Given the description of an element on the screen output the (x, y) to click on. 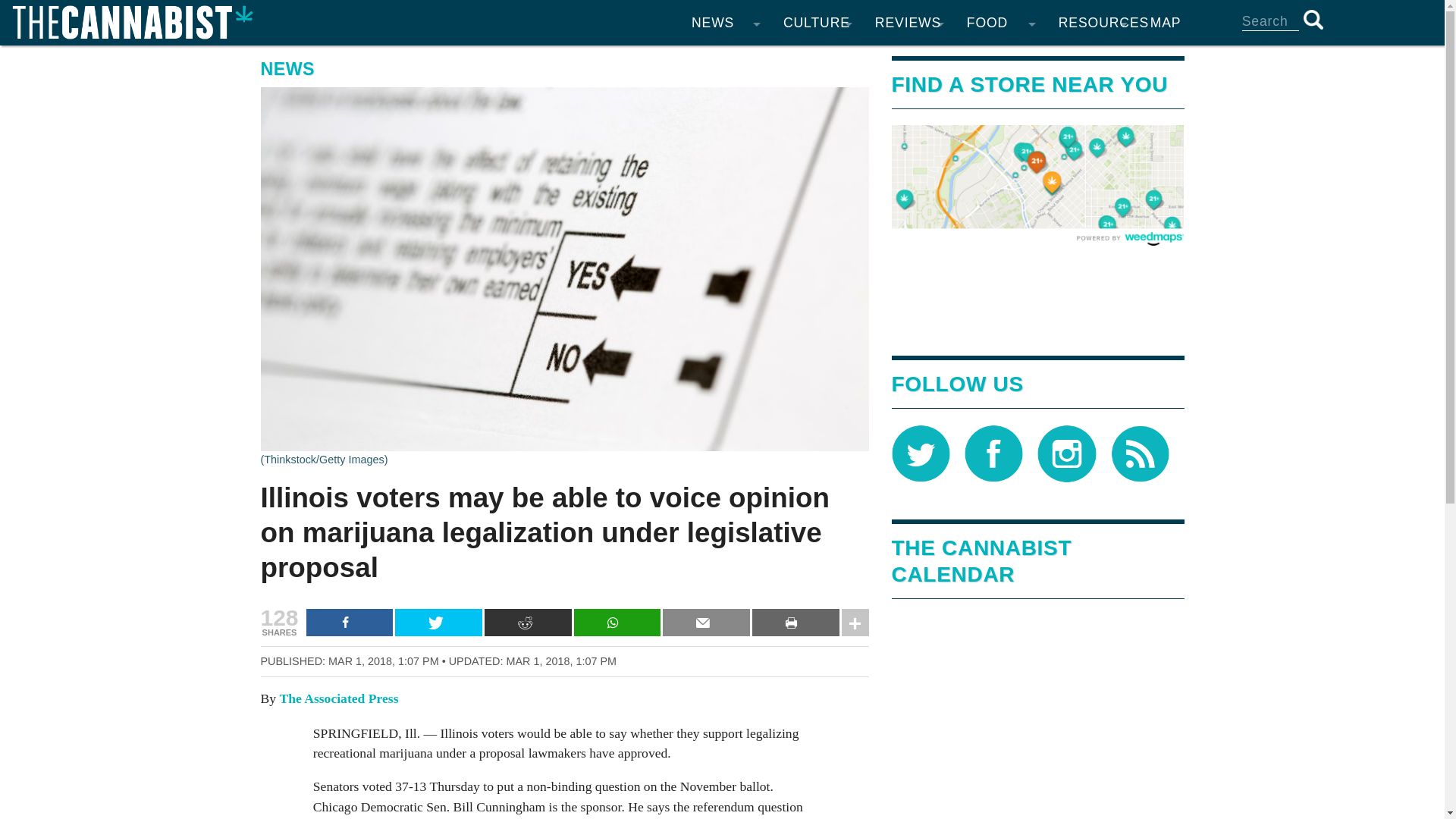
CALIFORNIA (725, 91)
FOOD (1000, 22)
WORLD CULTURE (817, 272)
Follow The Cannabist on Instagram (1066, 452)
BUSINESS (725, 212)
2015 (633, 303)
HIGH MINDED PODCAST BY THE CANNABIST (817, 303)
NEWS (725, 22)
COLORADO (725, 60)
Follow The Cannabist on Twitter (920, 452)
